Given the description of an element on the screen output the (x, y) to click on. 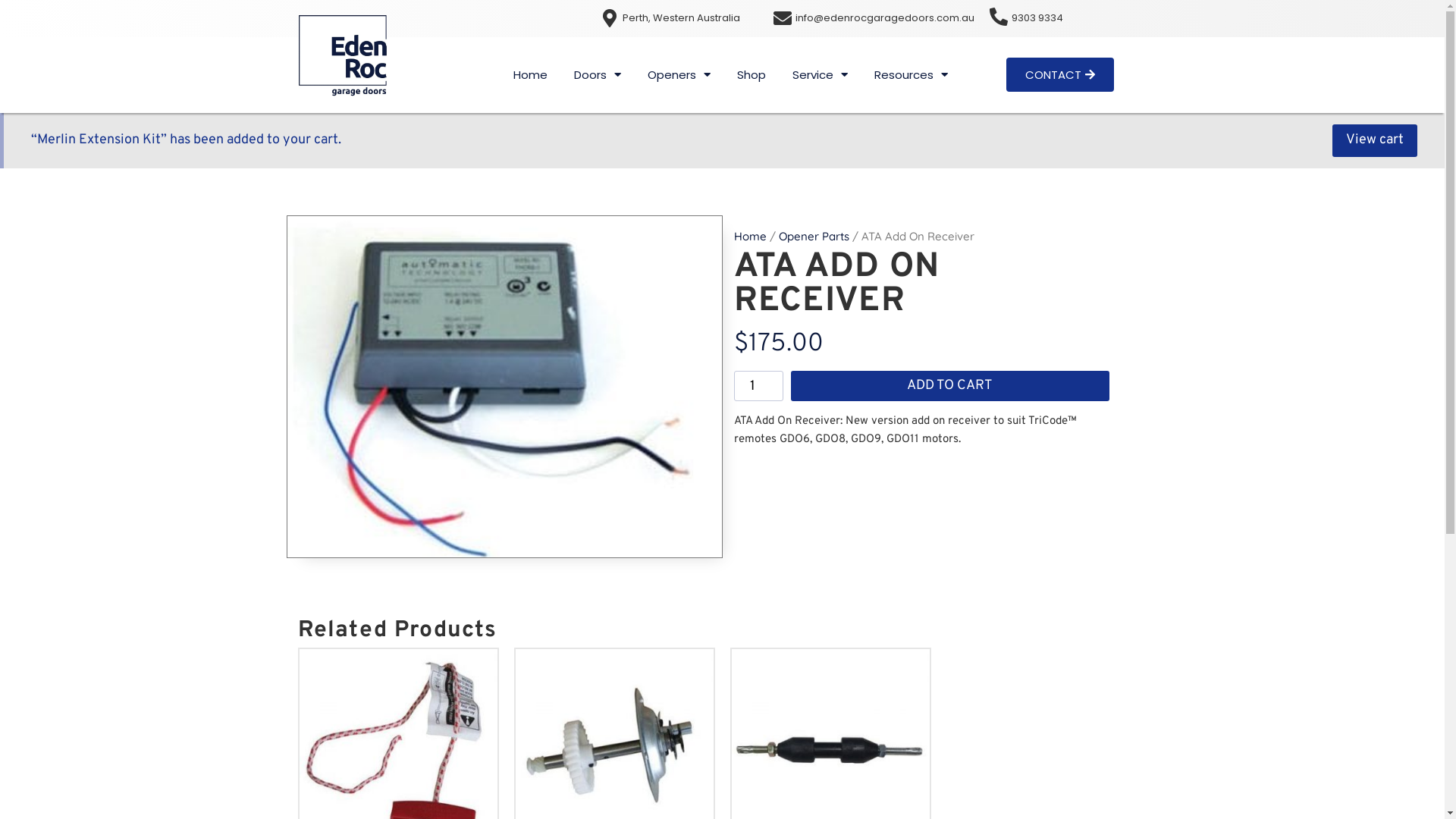
CONTACT Element type: text (1059, 74)
Shop Element type: text (751, 74)
Doors Element type: text (597, 74)
Resources Element type: text (910, 74)
Home Element type: text (750, 236)
Opener Parts Element type: text (813, 236)
ADD TO CART Element type: text (949, 385)
Home Element type: text (530, 74)
Openers Element type: text (678, 74)
View cart Element type: text (1374, 140)
9303 9334 Element type: text (1037, 17)
info@edenrocgaragedoors.com.au Element type: text (883, 17)
Service Element type: text (819, 74)
